Given the description of an element on the screen output the (x, y) to click on. 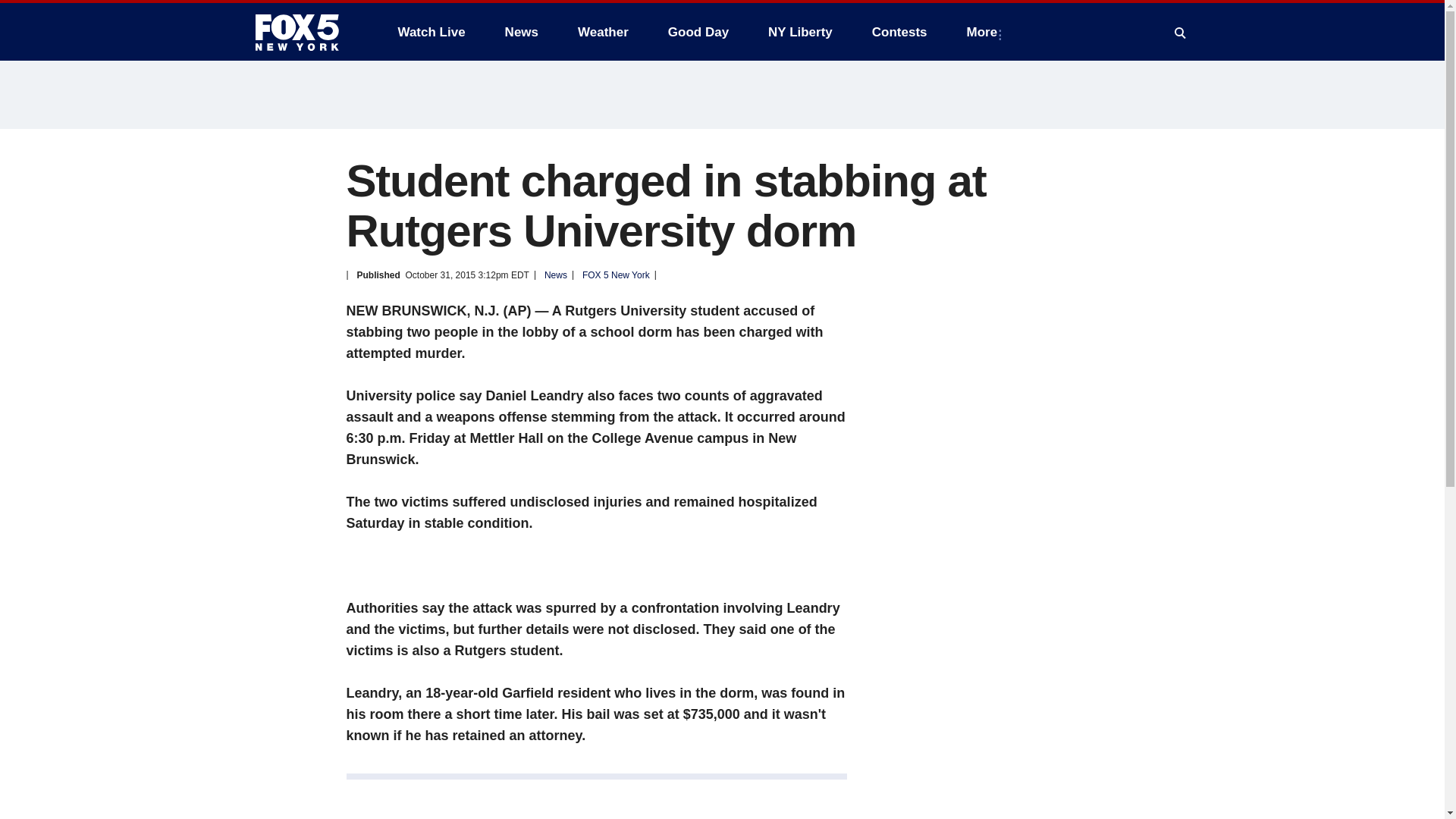
Watch Live (431, 32)
Weather (603, 32)
News (521, 32)
More (985, 32)
Good Day (698, 32)
NY Liberty (799, 32)
Contests (899, 32)
